Given the description of an element on the screen output the (x, y) to click on. 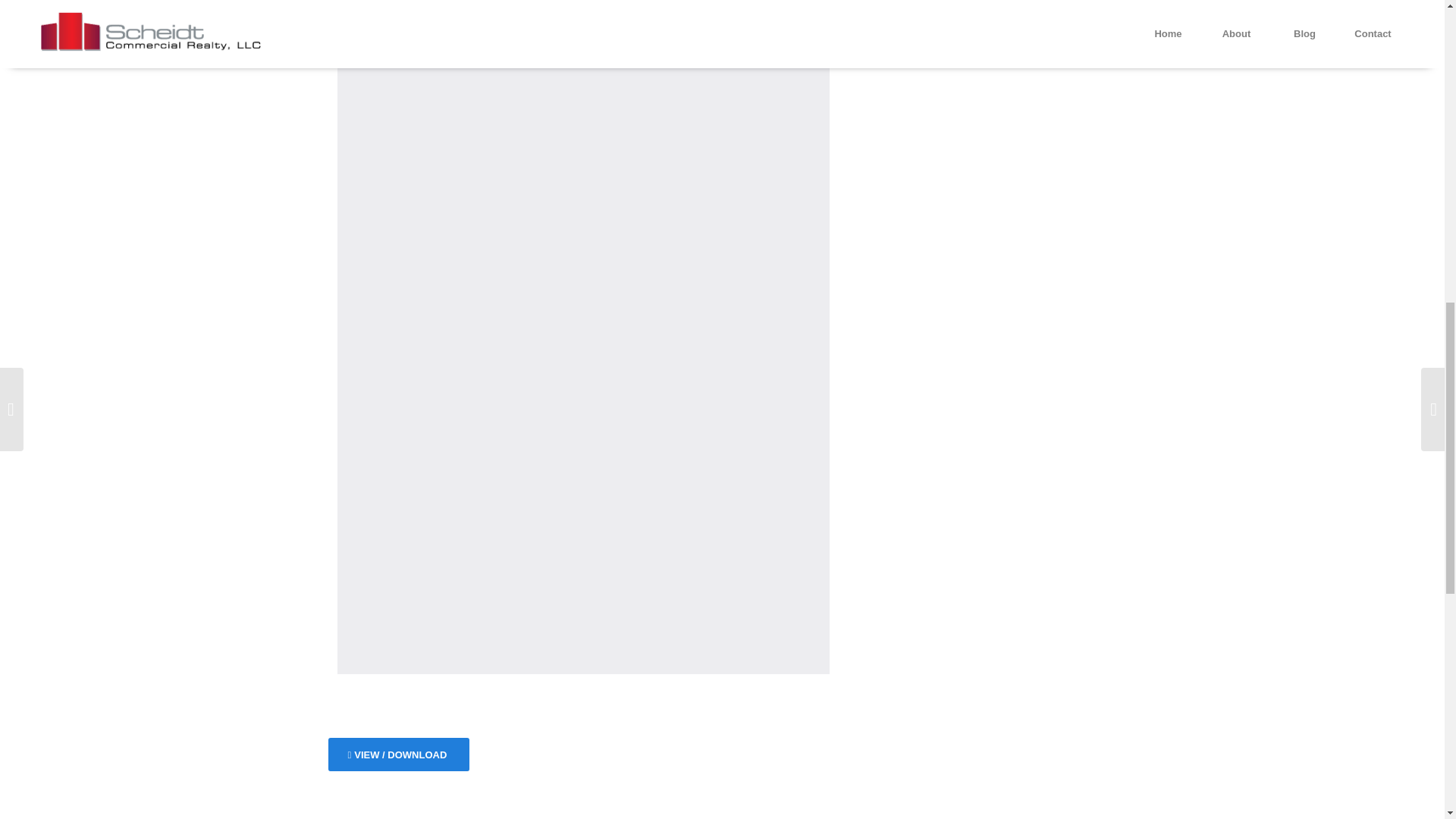
Archive (906, 7)
